Given the description of an element on the screen output the (x, y) to click on. 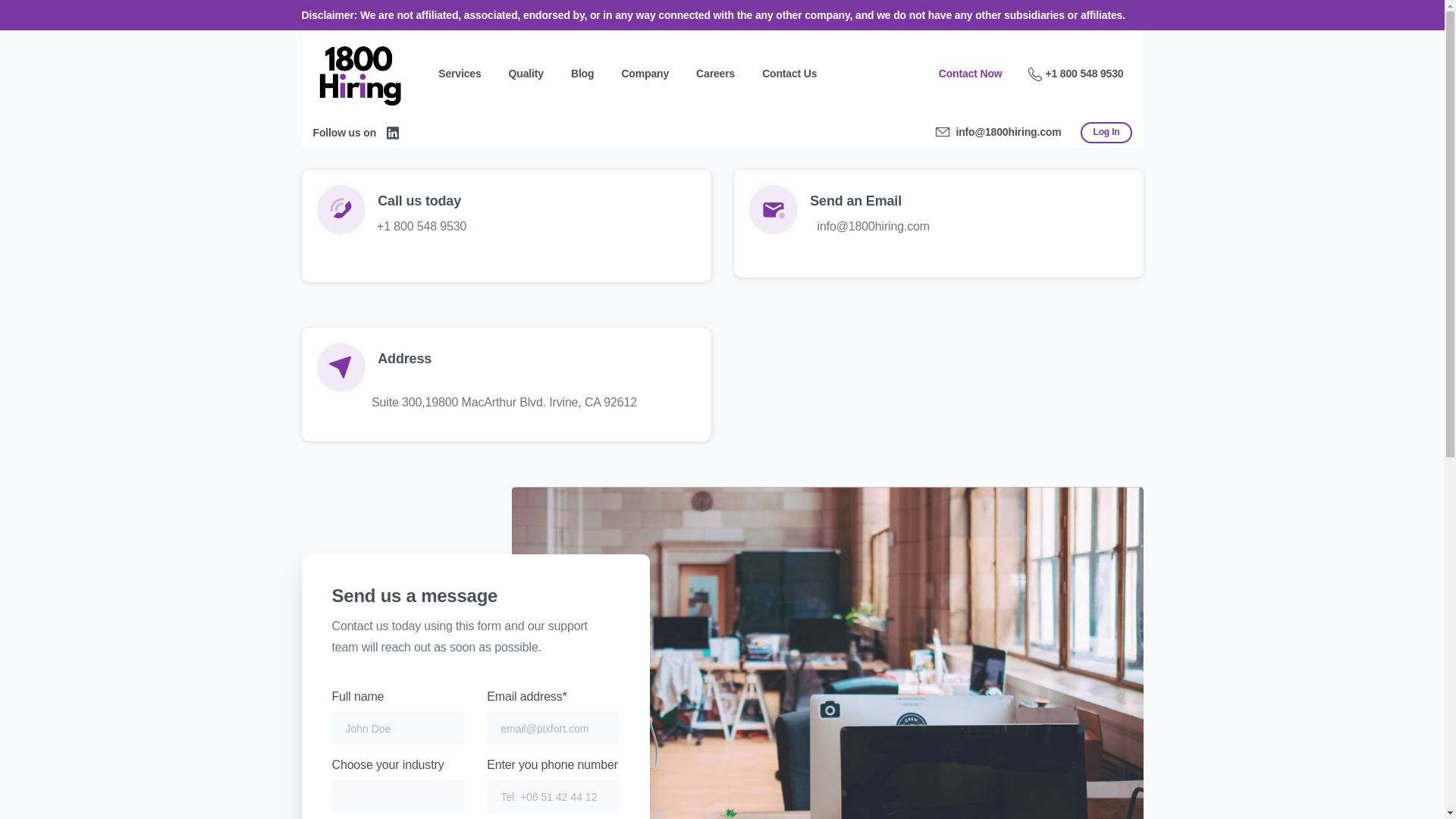
Log In Element type: text (1105, 132)
Call us today Element type: text (506, 220)
Address Element type: text (506, 378)
Contact Now Element type: text (970, 73)
Services Element type: text (459, 73)
+1 800 548 9530 Element type: text (1075, 73)
info@1800hiring.com Element type: text (998, 132)
Company Element type: text (644, 73)
Careers Element type: text (715, 73)
Quality Element type: text (525, 73)
Send an Email Element type: text (938, 219)
Contact Us Element type: text (789, 73)
linkedin Element type: hover (392, 132)
Blog Element type: text (581, 73)
